Given the description of an element on the screen output the (x, y) to click on. 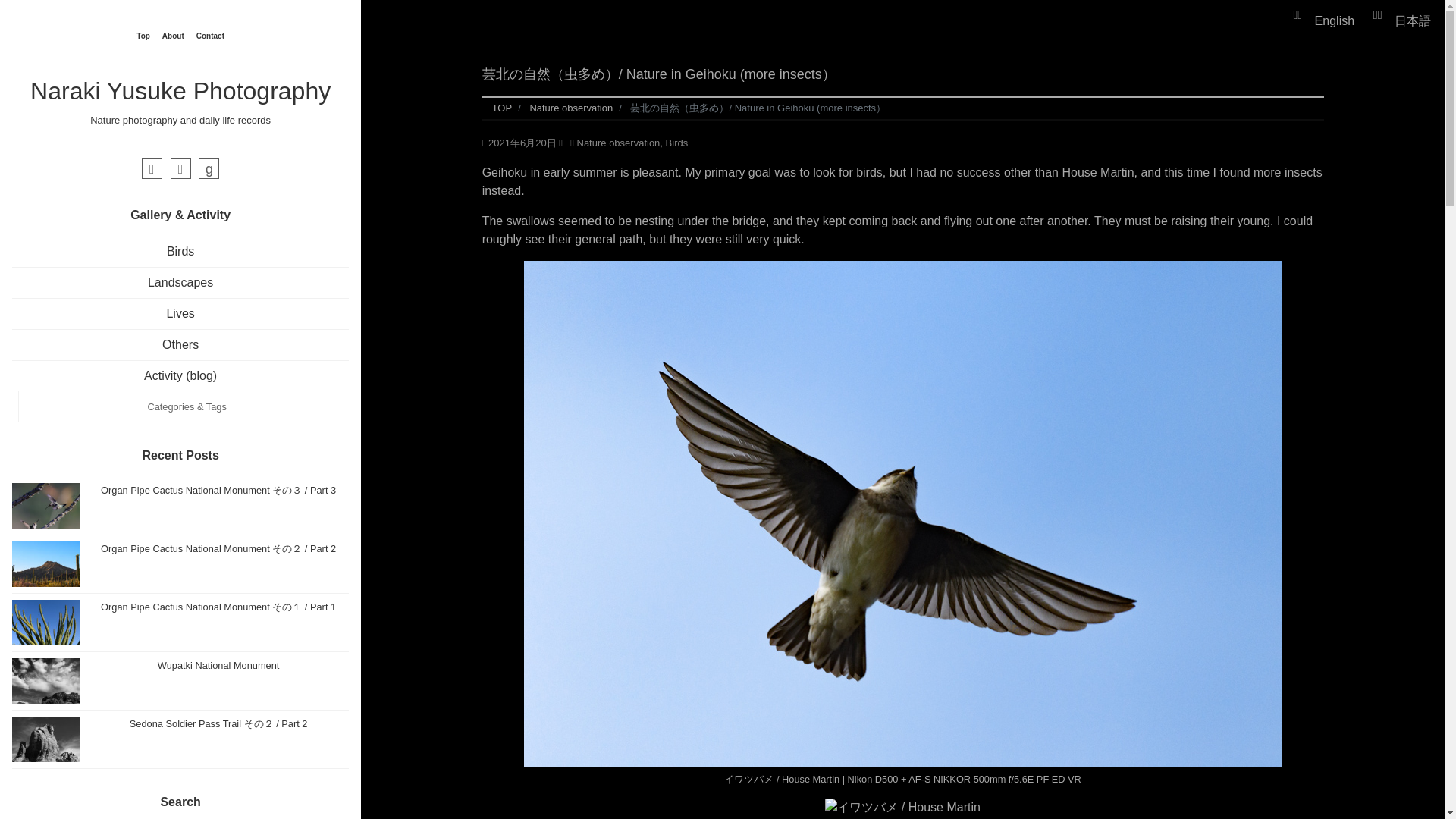
Wupatki National Monument (180, 680)
Naraki Yusuke Photography (180, 90)
Birds (676, 142)
Nature observation (617, 142)
Top (143, 35)
Nature observation (570, 107)
English (1333, 20)
English (1333, 20)
Contact (210, 35)
TOP (502, 107)
